Given the description of an element on the screen output the (x, y) to click on. 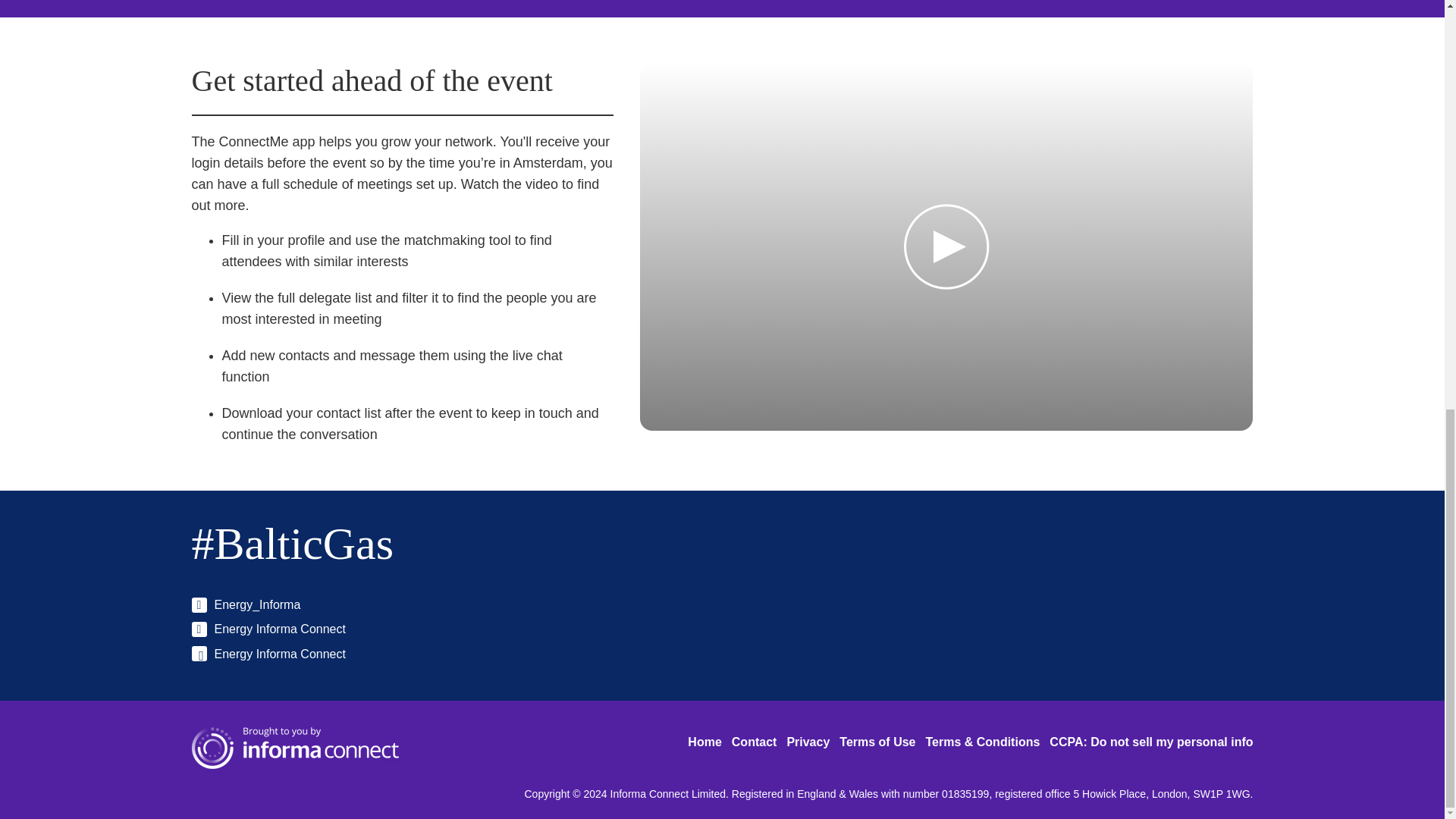
Energy Informa Connect (267, 654)
Energy Informa Connect (267, 629)
CCPA: Do not sell my personal info (1150, 741)
Terms of Use (877, 741)
Home (703, 741)
Contact (754, 741)
Privacy (807, 741)
